Given the description of an element on the screen output the (x, y) to click on. 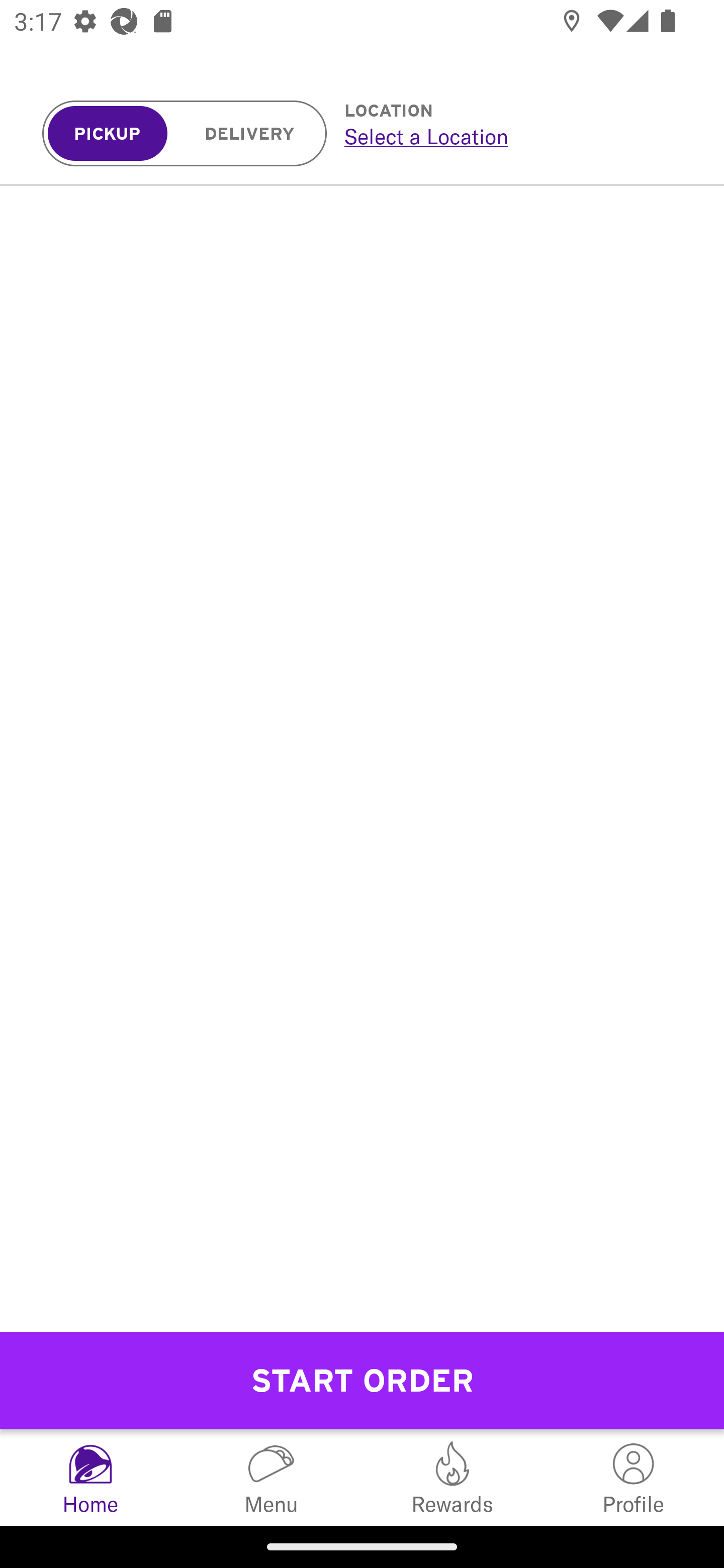
PICKUP (107, 133)
DELIVERY (249, 133)
Select a Location (511, 136)
START ORDER (362, 1379)
Home (90, 1476)
Menu (271, 1476)
Rewards (452, 1476)
My Info Profile (633, 1476)
